Given the description of an element on the screen output the (x, y) to click on. 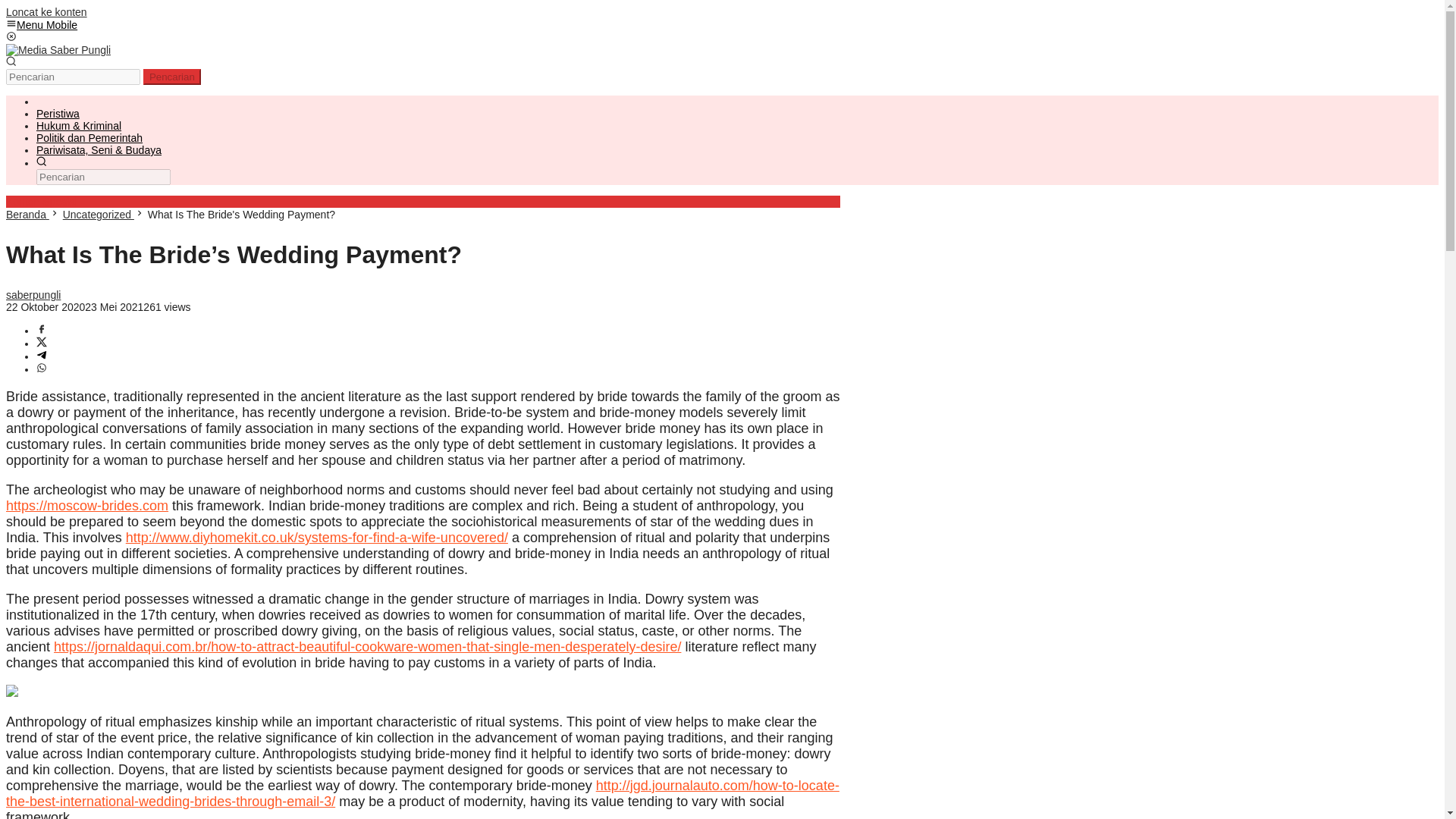
Loncat ke konten (46, 11)
Peristiwa (58, 113)
Uncategorized (97, 214)
saberpungli (33, 295)
Media Saber Pungli (57, 50)
Menu Mobile (41, 24)
Beranda (27, 214)
Pencarian (171, 76)
Permalink ke: saberpungli (33, 295)
Menu Mobile (41, 24)
Politik dan Pemerintah (89, 137)
